Given the description of an element on the screen output the (x, y) to click on. 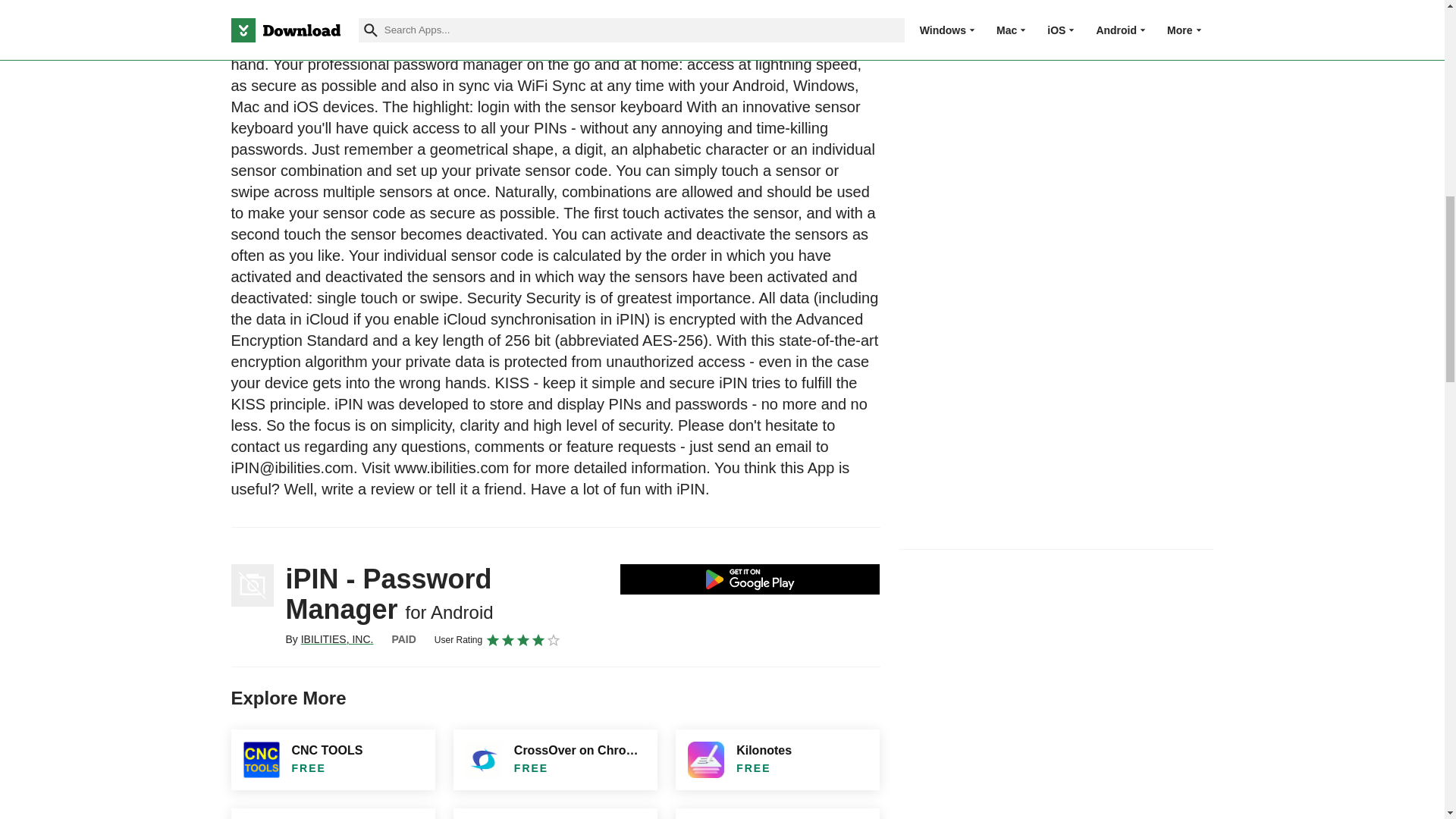
Kilonotes (777, 759)
Save To Phone (331, 813)
House Wiring Electrical Diagram (555, 813)
iPIN - Password Manager for Android (251, 585)
CNC TOOLS (331, 759)
Root Master (777, 813)
CrossOver on Chrome OS Beta (555, 759)
Get it on Google Play (750, 579)
